Given the description of an element on the screen output the (x, y) to click on. 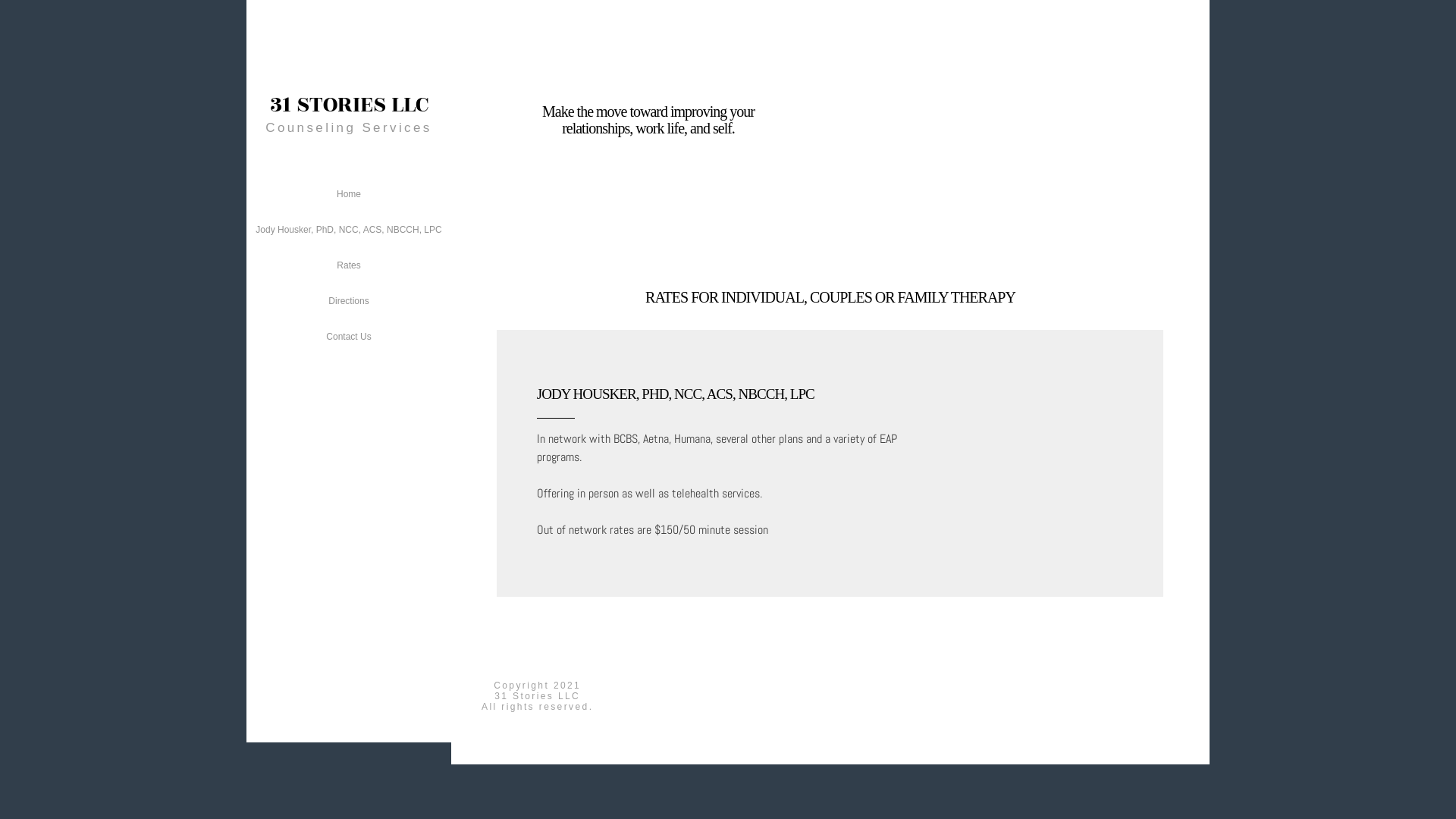
Home Element type: text (347, 194)
31 STORIES LLC Element type: text (349, 108)
Contact Us Element type: text (347, 336)
Jody Housker, PhD, NCC, ACS, NBCCH, LPC Element type: text (347, 229)
Rates Element type: text (347, 265)
Directions Element type: text (347, 300)
